Given the description of an element on the screen output the (x, y) to click on. 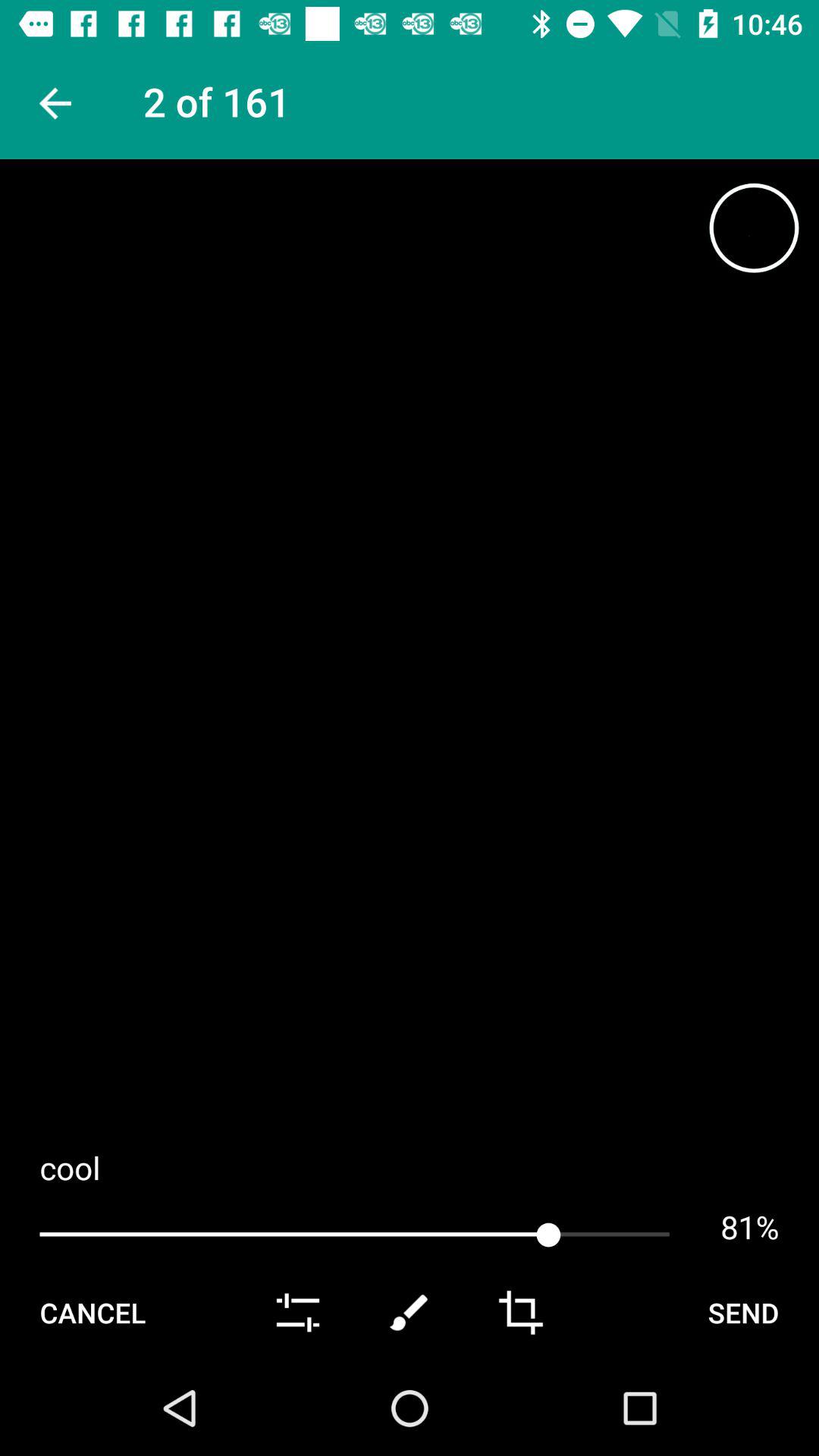
settings function (297, 1312)
